Given the description of an element on the screen output the (x, y) to click on. 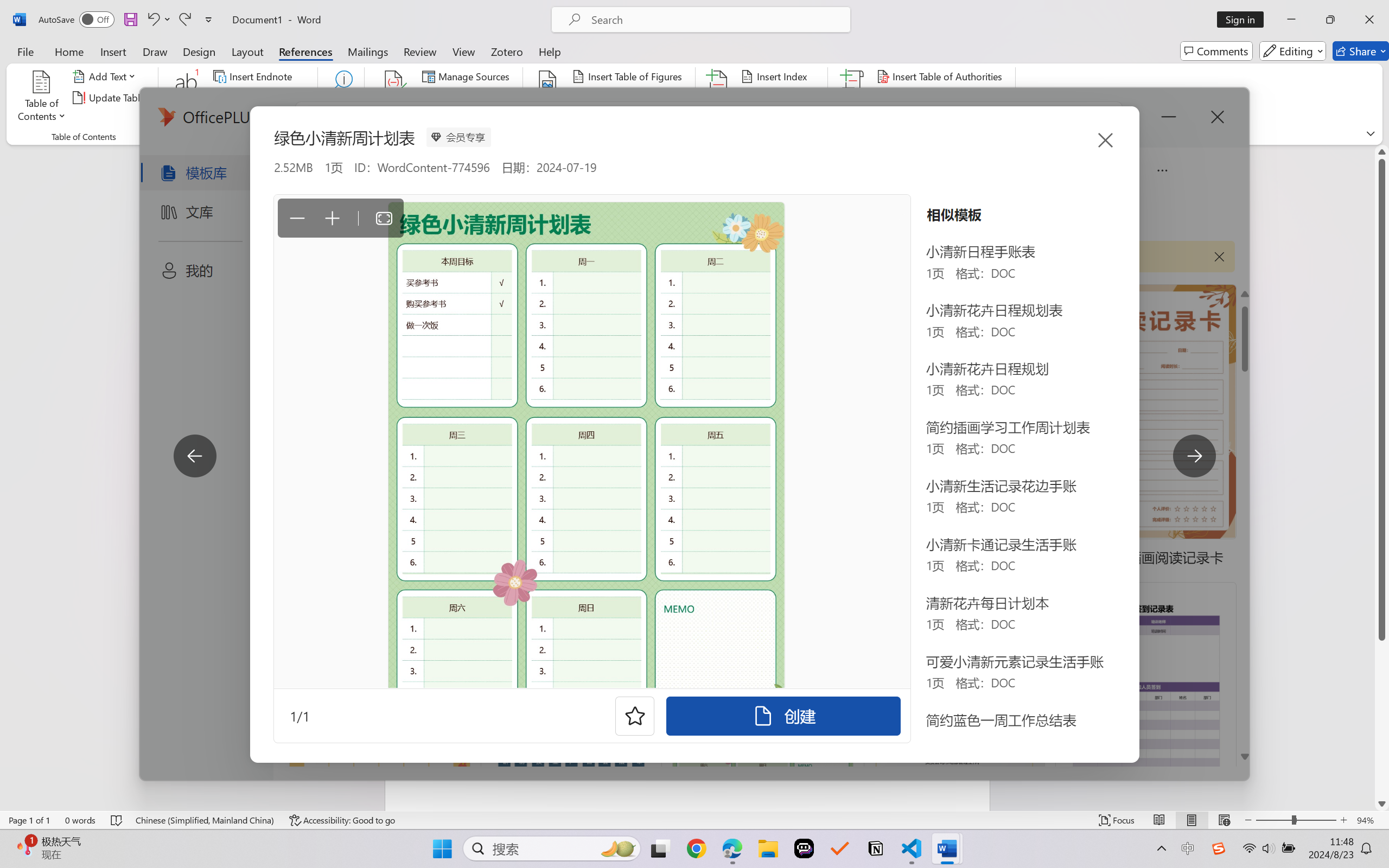
Show Notes (248, 118)
Mark Entry... (718, 97)
Next Footnote (260, 97)
Insert Table of Figures... (628, 75)
